Given the description of an element on the screen output the (x, y) to click on. 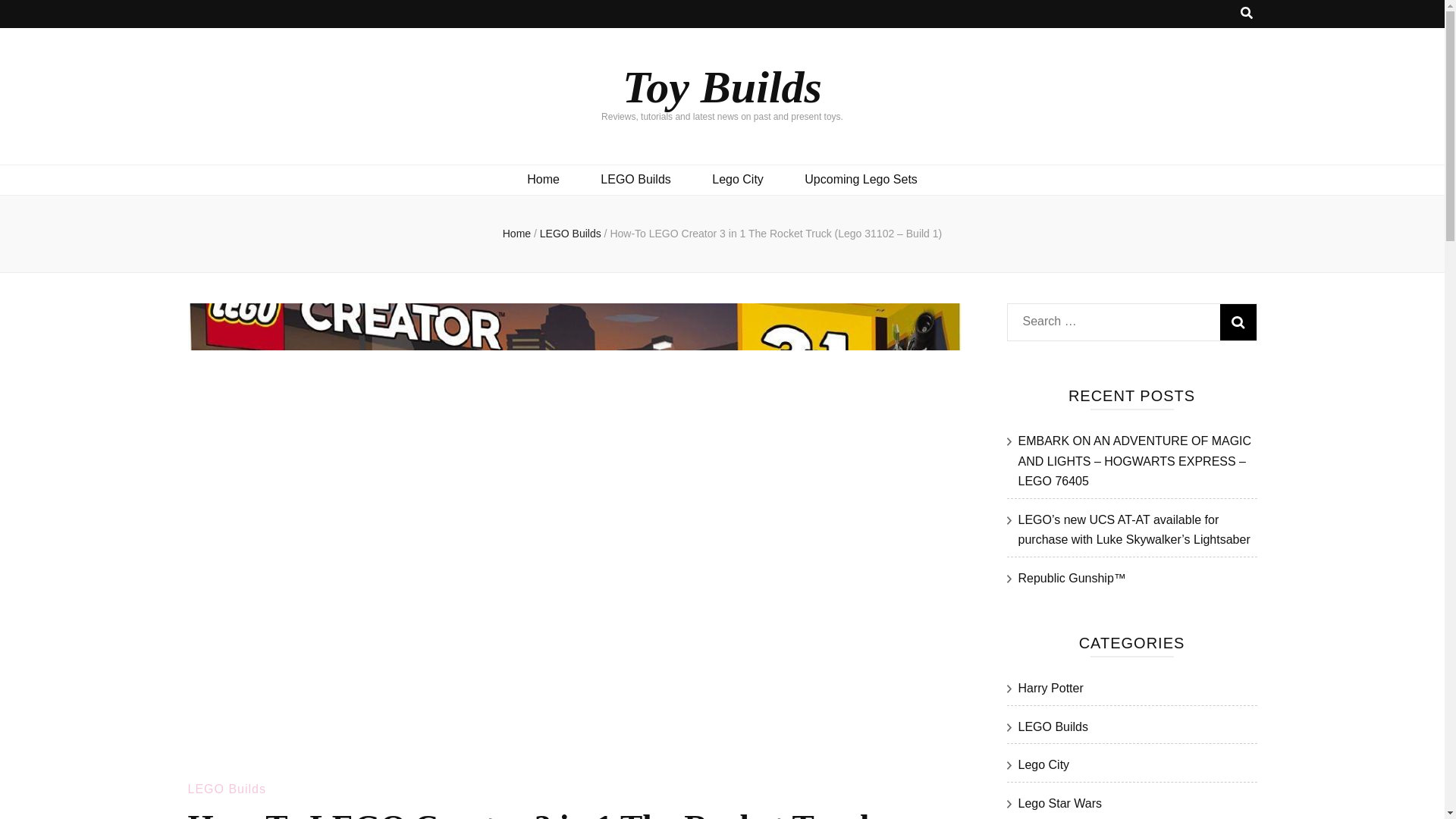
Home (543, 179)
Search (1237, 321)
Upcoming Lego Sets (861, 179)
Search (1237, 321)
Lego City (736, 179)
Toy Builds (722, 87)
LEGO Builds (226, 788)
Home (516, 233)
Search (1237, 321)
LEGO Builds (634, 179)
